Given the description of an element on the screen output the (x, y) to click on. 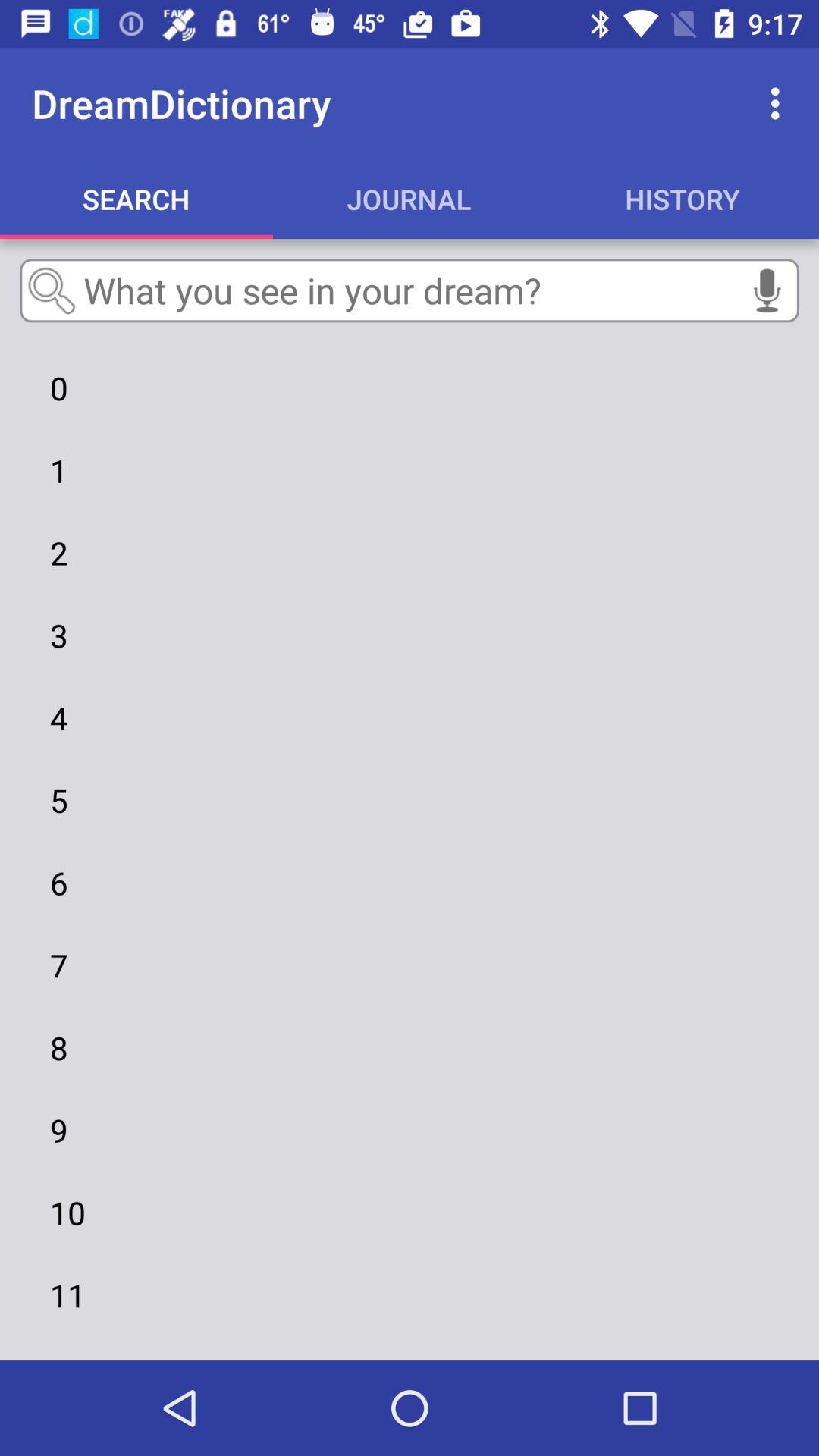
turn on the item above 0 item (409, 290)
